Given the description of an element on the screen output the (x, y) to click on. 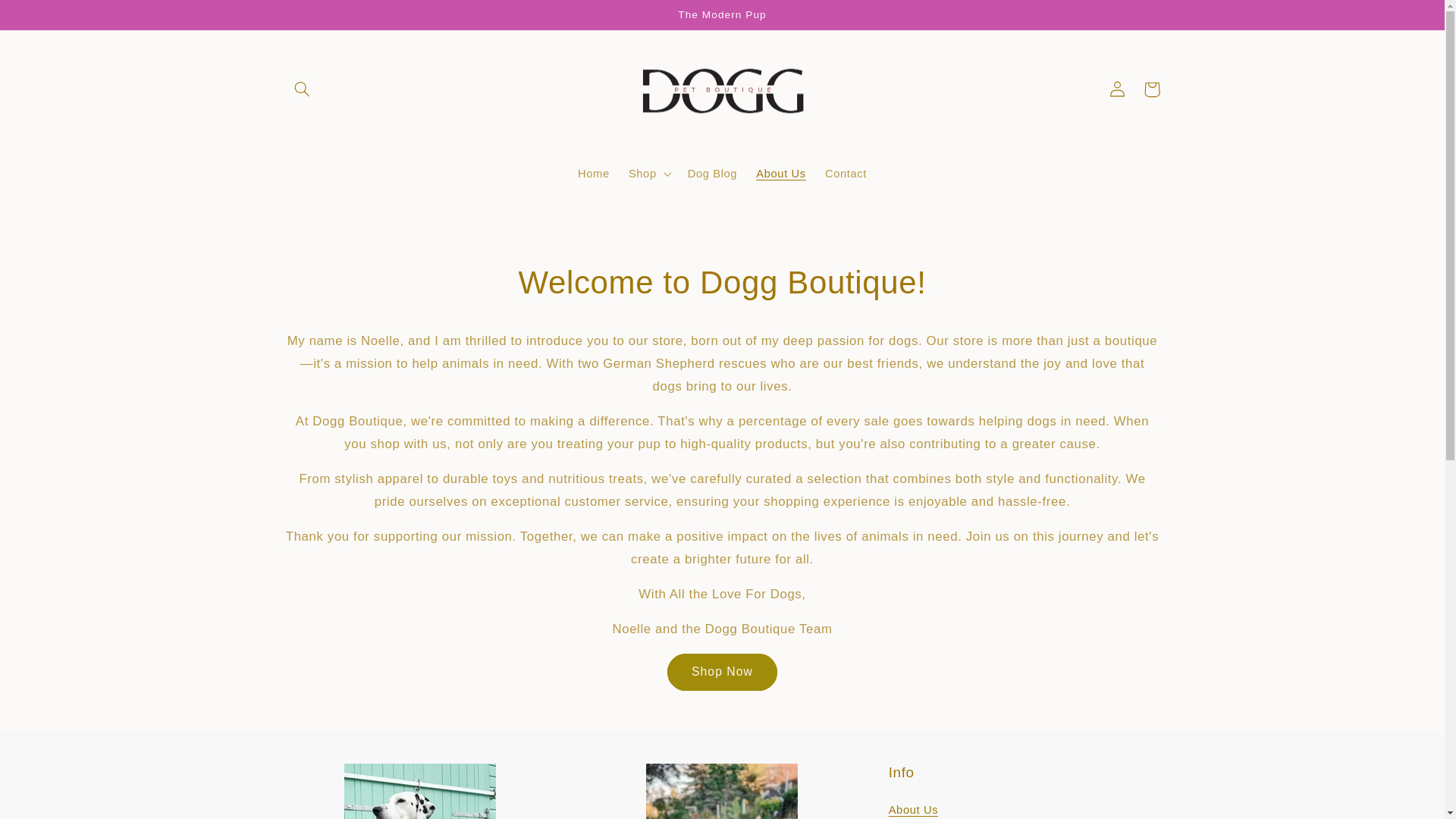
Home (592, 173)
Skip to content (48, 18)
